Given the description of an element on the screen output the (x, y) to click on. 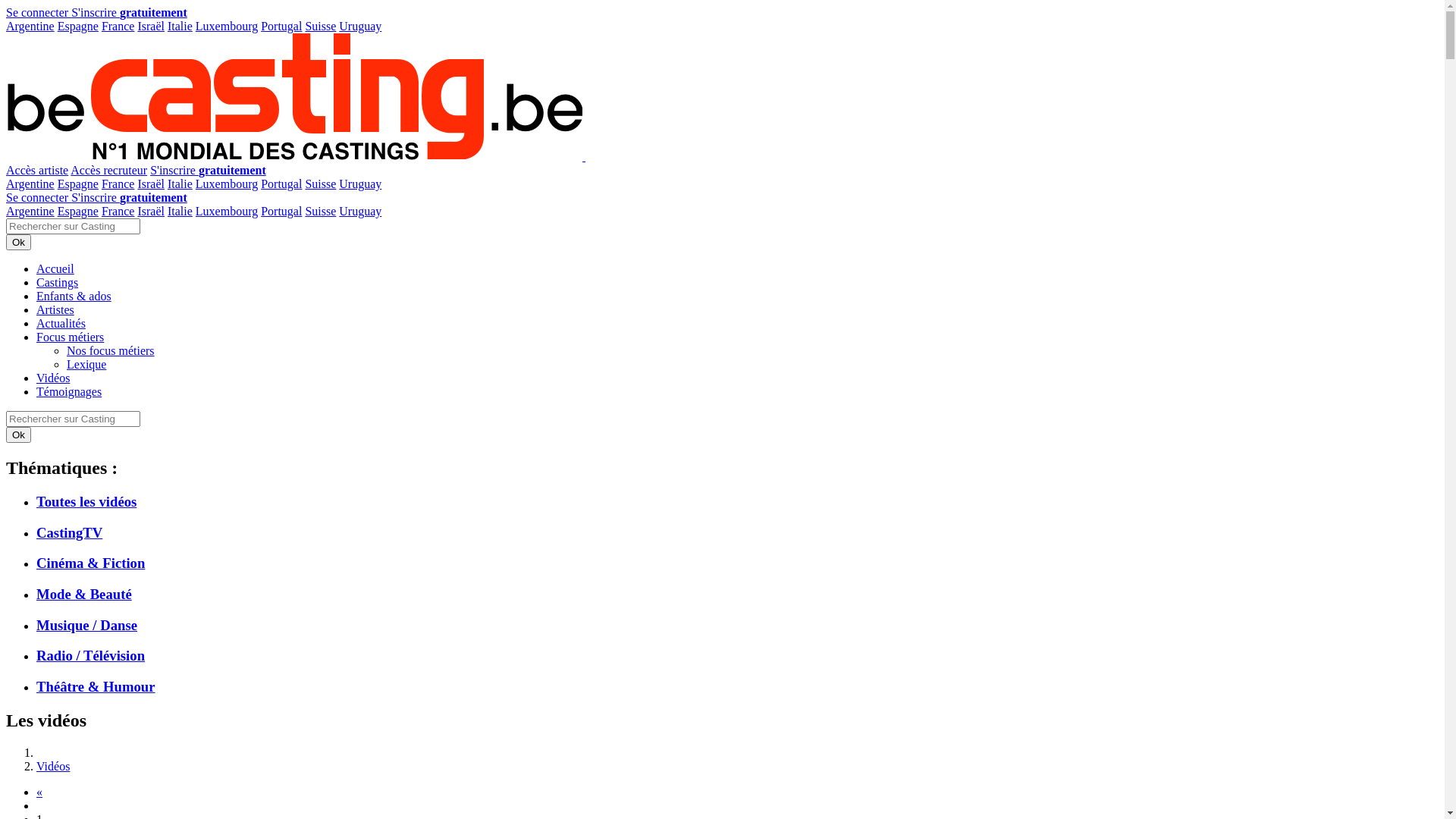
Se connecter Element type: text (38, 12)
Italie Element type: text (179, 25)
Suisse Element type: text (319, 210)
Portugal Element type: text (280, 210)
Se connecter Element type: text (38, 197)
S'inscrire gratuitement Element type: text (129, 12)
Luxembourg Element type: text (226, 183)
Accueil Element type: text (55, 268)
France Element type: text (117, 183)
S'inscrire gratuitement Element type: text (208, 169)
Argentine Element type: text (30, 183)
Uruguay Element type: text (359, 183)
Suisse Element type: text (319, 25)
Portugal Element type: text (280, 25)
France Element type: text (117, 25)
CastingTV Element type: text (737, 532)
Suisse Element type: text (319, 183)
Argentine Element type: text (30, 210)
Italie Element type: text (179, 183)
Uruguay Element type: text (359, 210)
Espagne Element type: text (77, 210)
Argentine Element type: text (30, 25)
Ok Element type: text (18, 434)
Espagne Element type: text (77, 183)
Lexique Element type: text (86, 363)
Portugal Element type: text (280, 183)
Enfants & ados Element type: text (73, 295)
Artistes Element type: text (55, 309)
Uruguay Element type: text (359, 25)
Musique / Danse Element type: text (737, 625)
Castings Element type: text (57, 282)
Ok Element type: text (18, 242)
Espagne Element type: text (77, 25)
S'inscrire gratuitement Element type: text (129, 197)
France Element type: text (117, 210)
Luxembourg Element type: text (226, 210)
Luxembourg Element type: text (226, 25)
Italie Element type: text (179, 210)
